Given the description of an element on the screen output the (x, y) to click on. 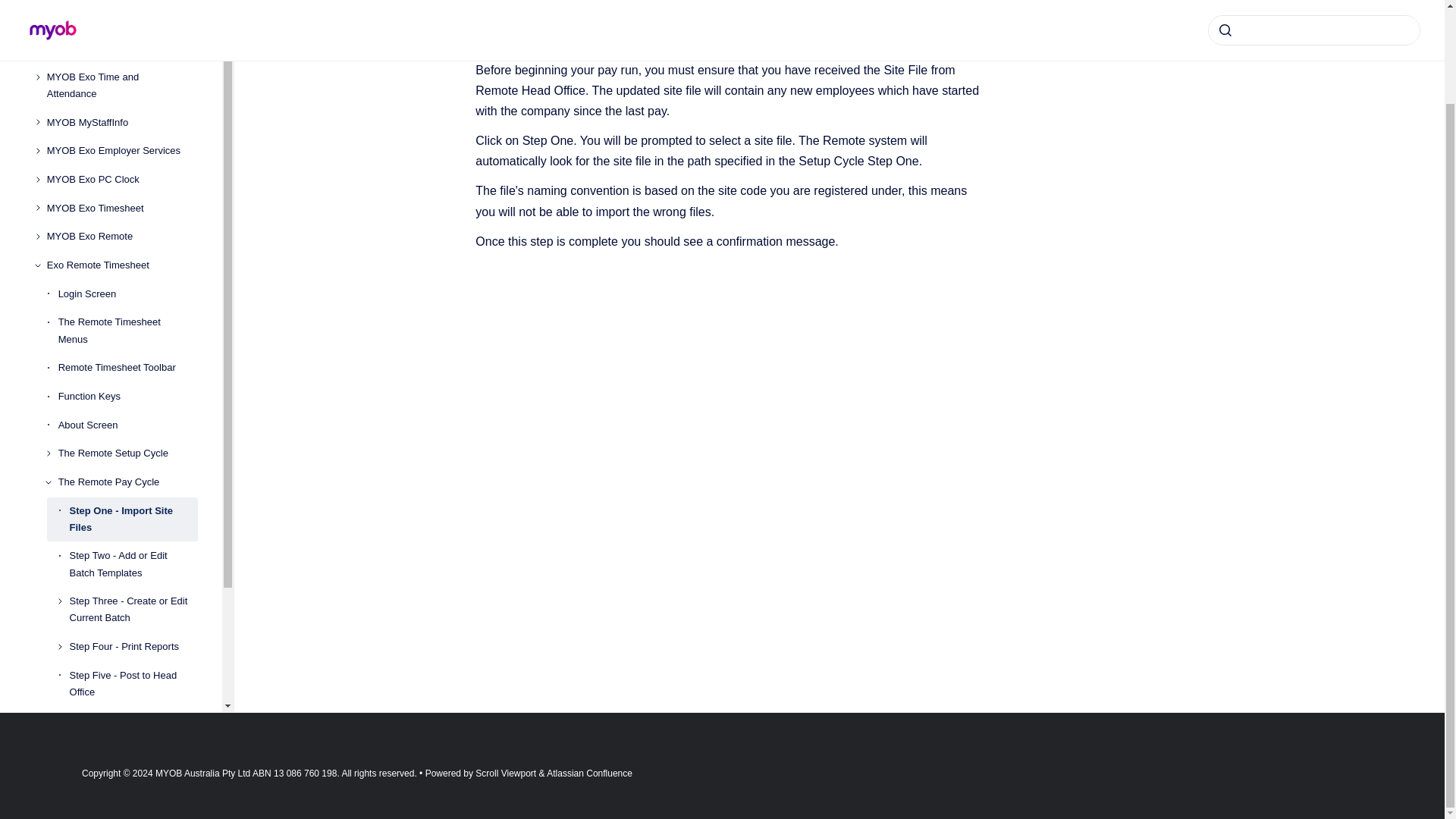
Step One - Import Site Files (133, 519)
The Remote Pay Cycle (128, 482)
Step Three - Create or Edit Current Batch (133, 609)
About Screen (128, 424)
MYOB Exo Employer Services (122, 151)
The Remote Setup Cycle (128, 452)
MYOB Exo Payroll (122, 48)
Function Keys (128, 396)
Login Screen (128, 293)
MYOB MyStaffInfo (122, 122)
Release notes - NZ (122, 20)
The Remote Timesheet Menus (128, 330)
MYOB Exo Remote (122, 236)
MYOB Exo Time and Attendance (122, 85)
Remote Timesheet Toolbar (128, 367)
